Given the description of an element on the screen output the (x, y) to click on. 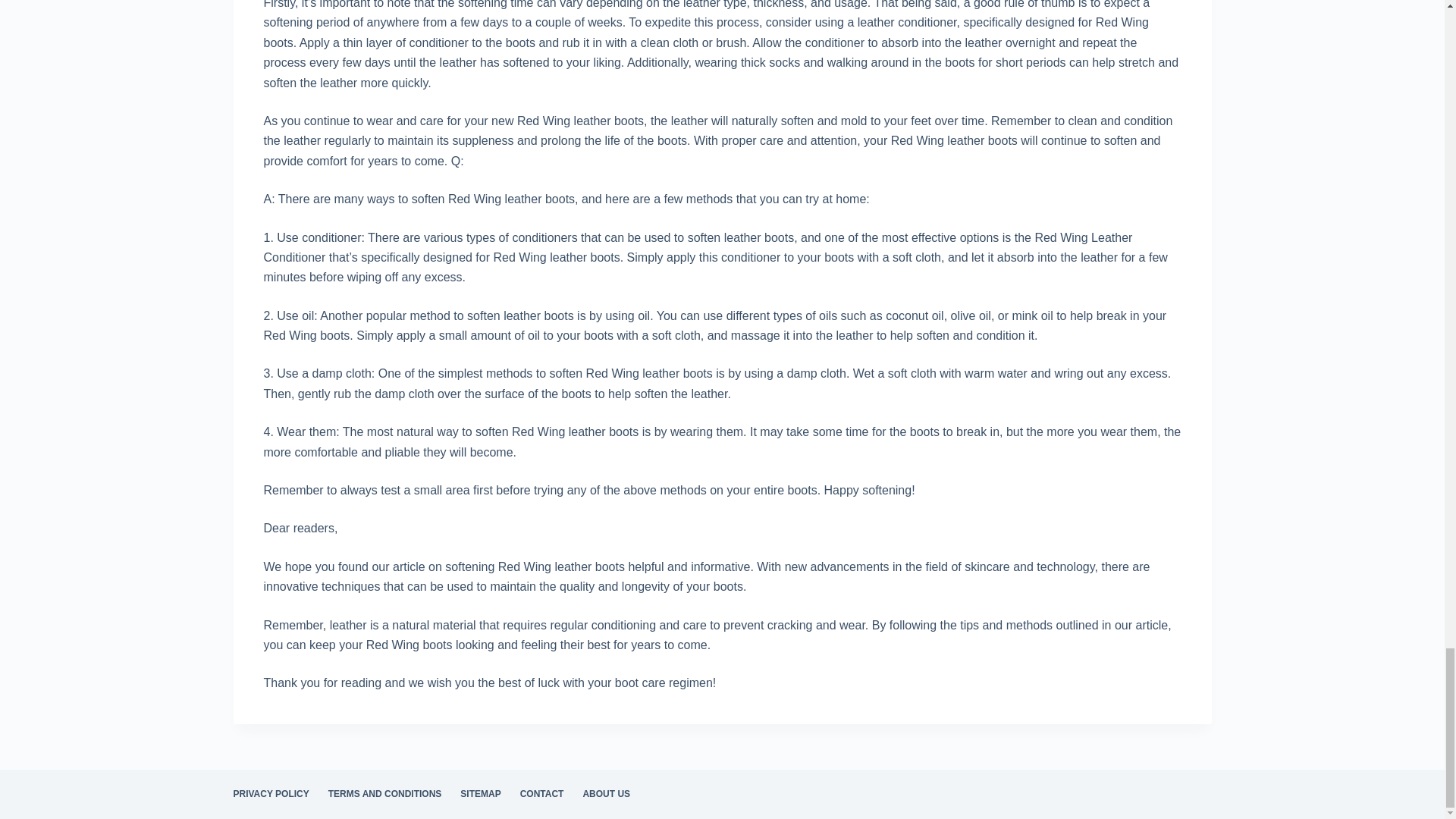
CONTACT (542, 794)
ABOUT US (606, 794)
SITEMAP (481, 794)
PRIVACY POLICY (271, 794)
TERMS AND CONDITIONS (384, 794)
